Given the description of an element on the screen output the (x, y) to click on. 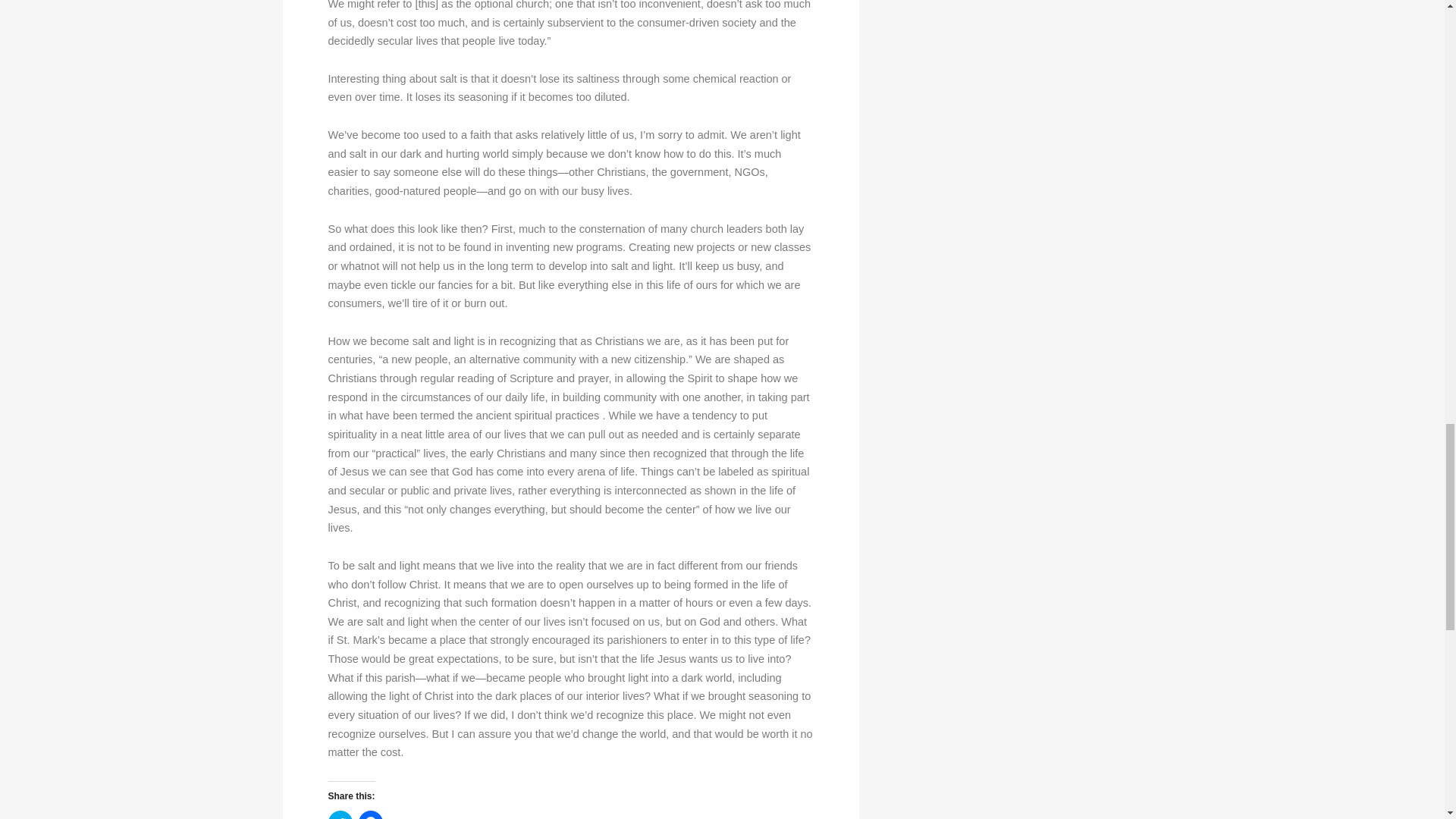
Click to share on Facebook (369, 814)
Click to share on Twitter (339, 814)
